Given the description of an element on the screen output the (x, y) to click on. 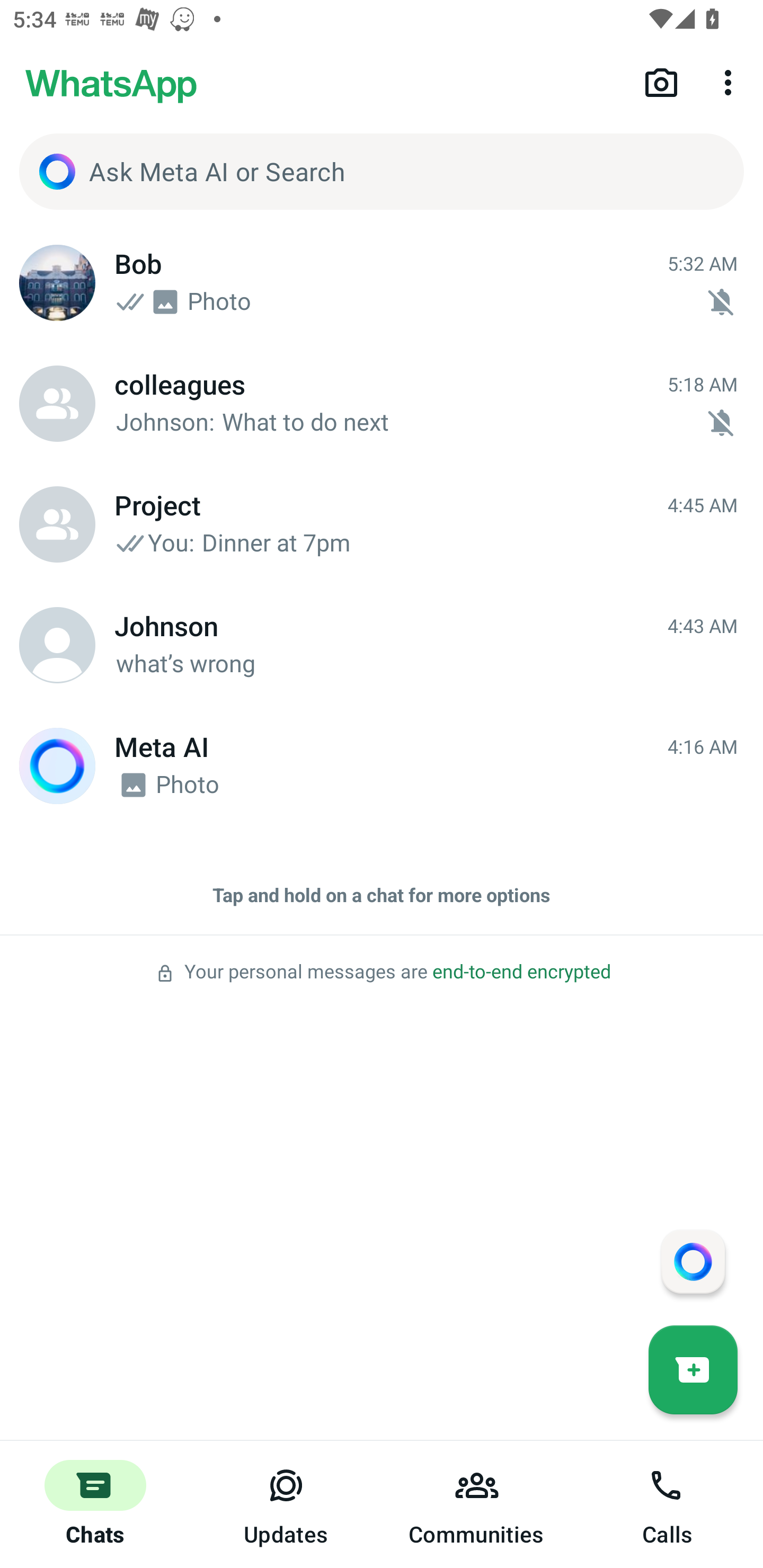
Camera (661, 81)
More options (731, 81)
Bob Bob 5:32 AM 5:32 AM Photo Mute notifications (381, 282)
Bob (57, 282)
colleagues (57, 403)
Project (57, 524)
Johnson Johnson 4:43 AM 4:43 AM what’s wrong (381, 644)
Johnson (57, 644)
Meta AI Meta AI 4:16 AM 4:16 AM Photo (381, 765)
Meta AI (57, 765)
end-to-end encrypted (521, 972)
Message your assistant (692, 1261)
New chat (692, 1369)
Updates (285, 1504)
Communities (476, 1504)
Calls (667, 1504)
